Given the description of an element on the screen output the (x, y) to click on. 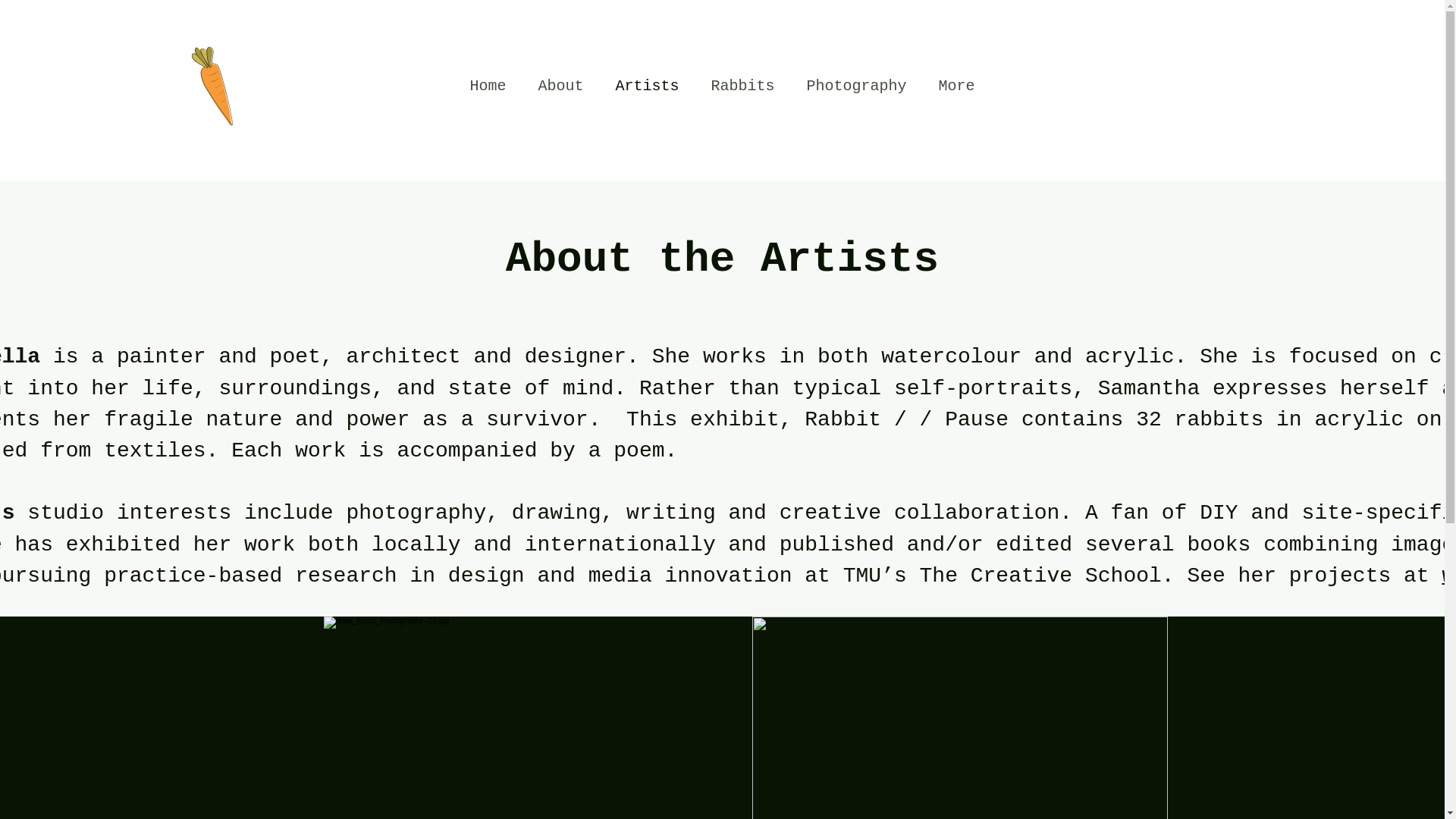
Photography (855, 86)
About (559, 86)
Artists (646, 86)
Rabbits (742, 86)
Home (486, 86)
